Given the description of an element on the screen output the (x, y) to click on. 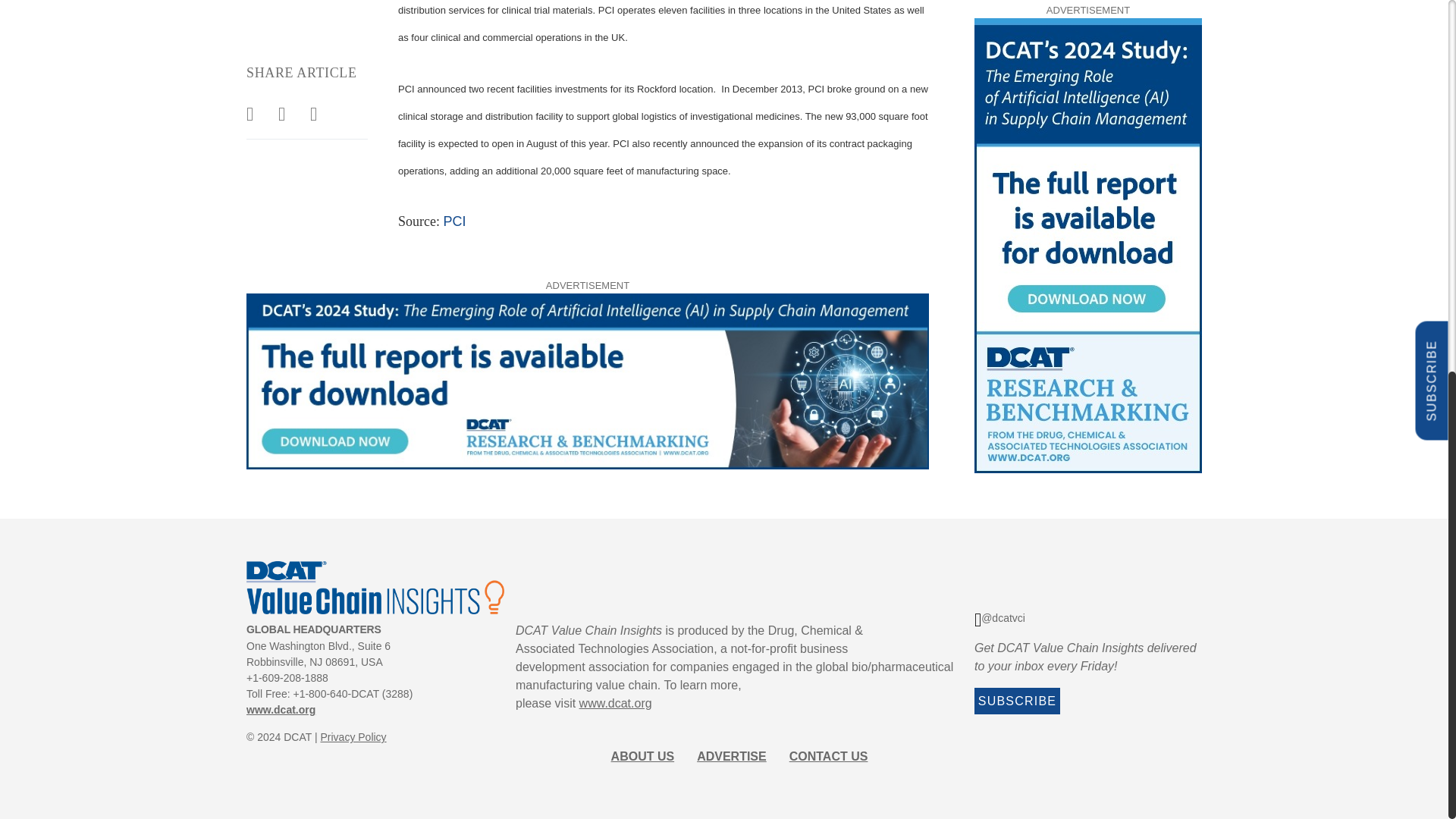
ABOUT US (643, 756)
www.dcat.org (280, 709)
Privacy Policy (352, 736)
PCI (453, 221)
www.dcat.org (615, 703)
